Given the description of an element on the screen output the (x, y) to click on. 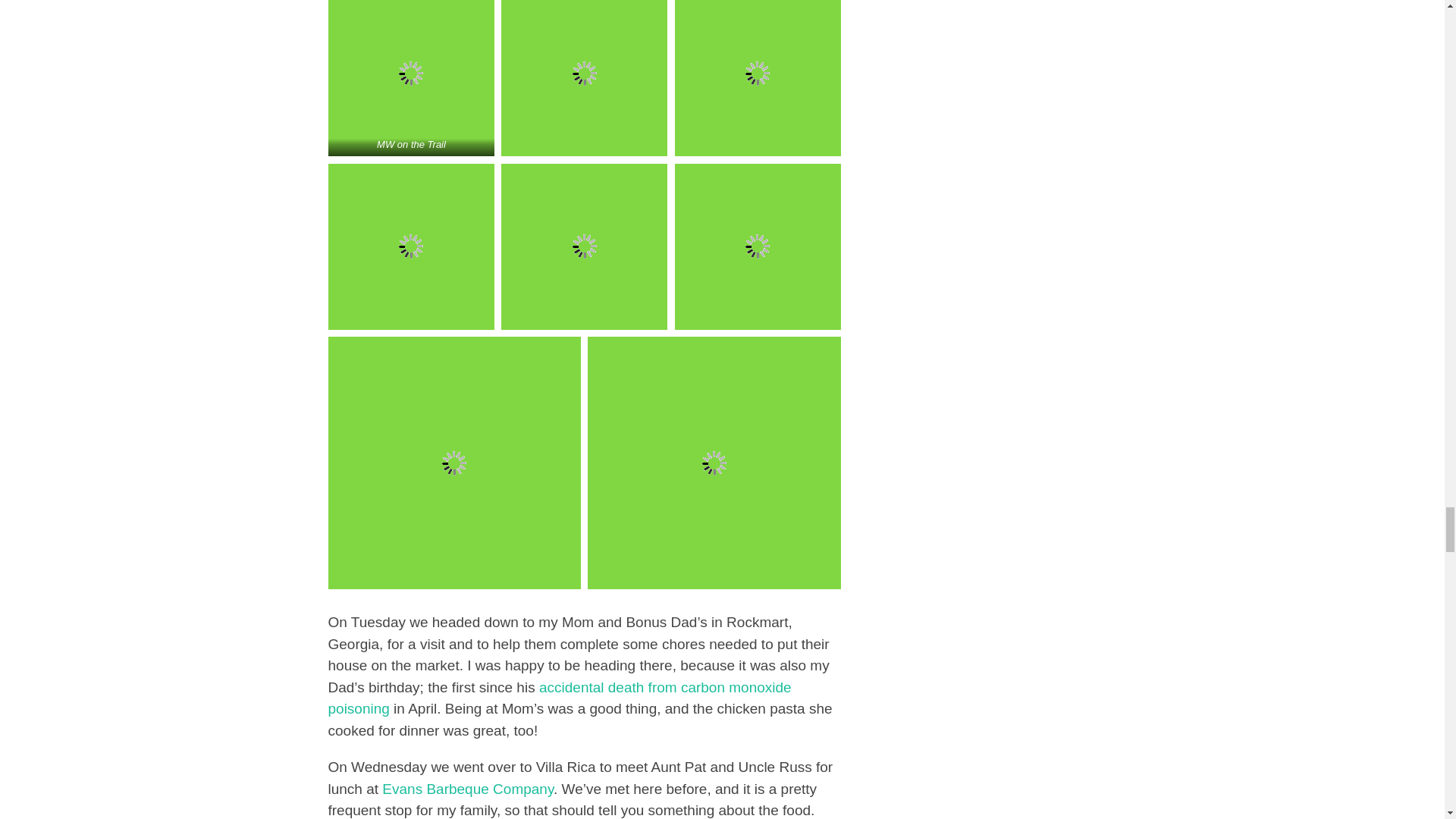
Evans Barbeque Company (467, 788)
accidental death from carbon monoxide poisoning (558, 698)
